Given the description of an element on the screen output the (x, y) to click on. 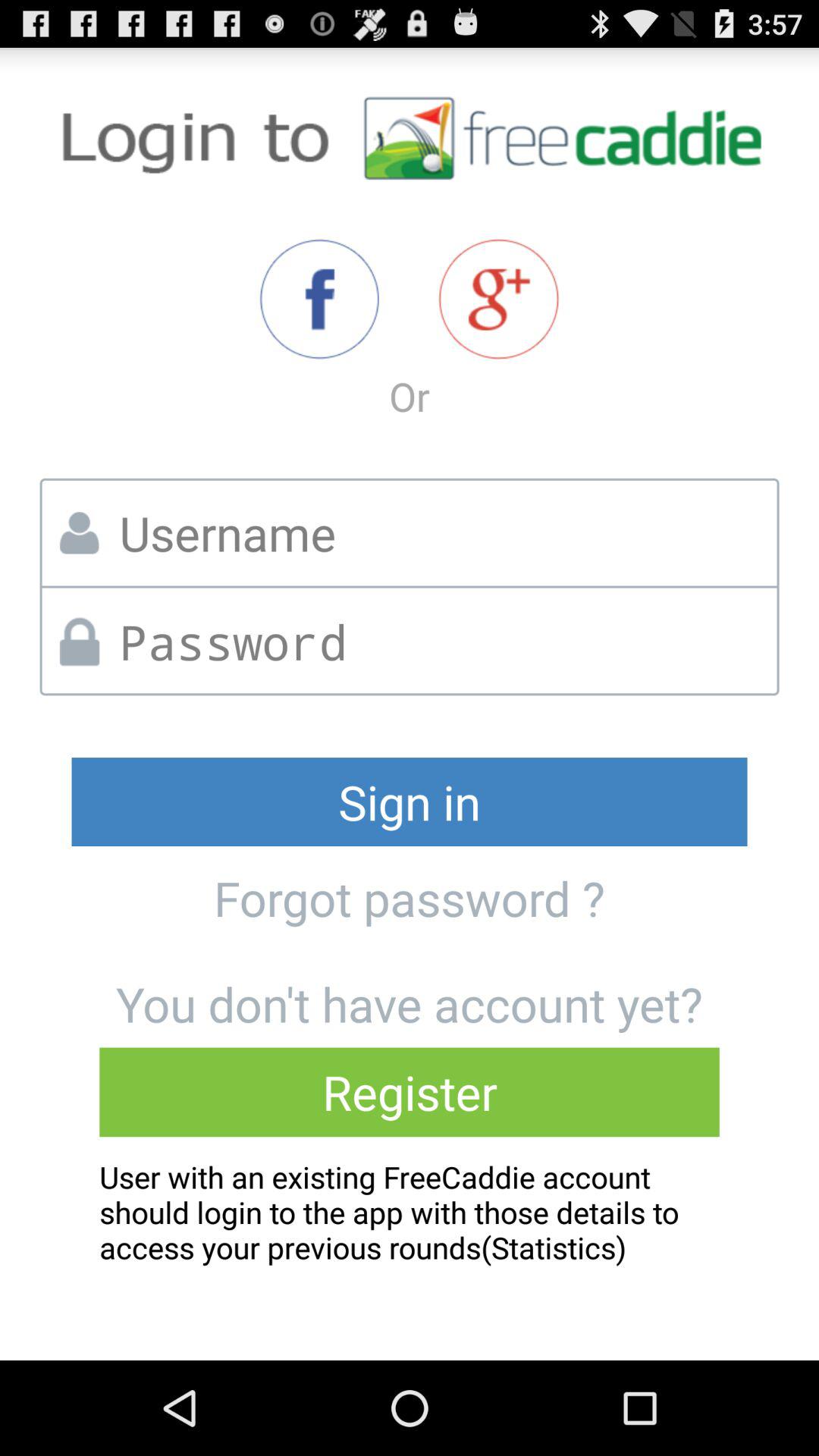
enter username in box (443, 533)
